Given the description of an element on the screen output the (x, y) to click on. 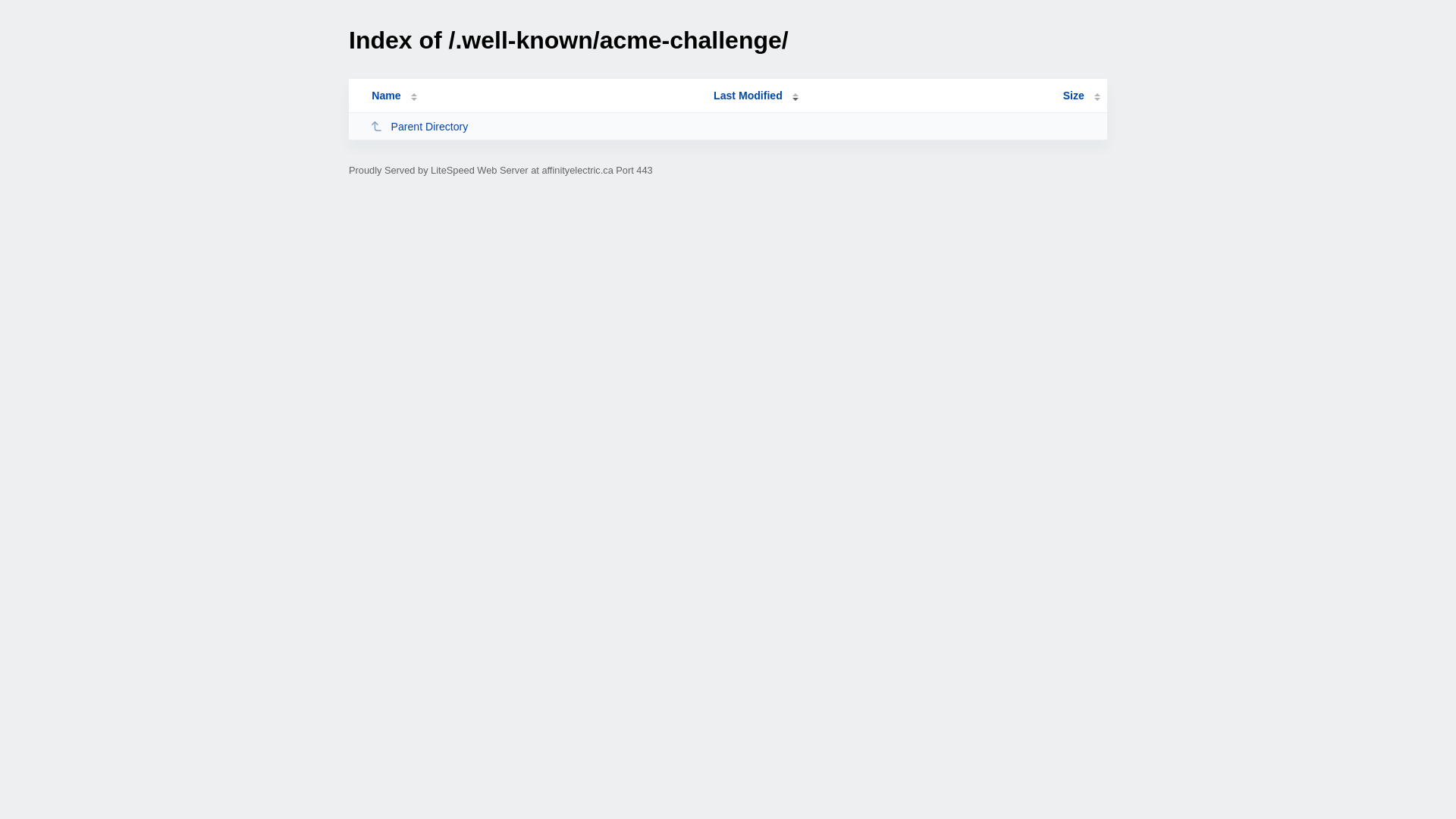
Name Element type: text (385, 95)
Size Element type: text (1081, 95)
Parent Directory Element type: text (534, 125)
Last Modified Element type: text (755, 95)
